Given the description of an element on the screen output the (x, y) to click on. 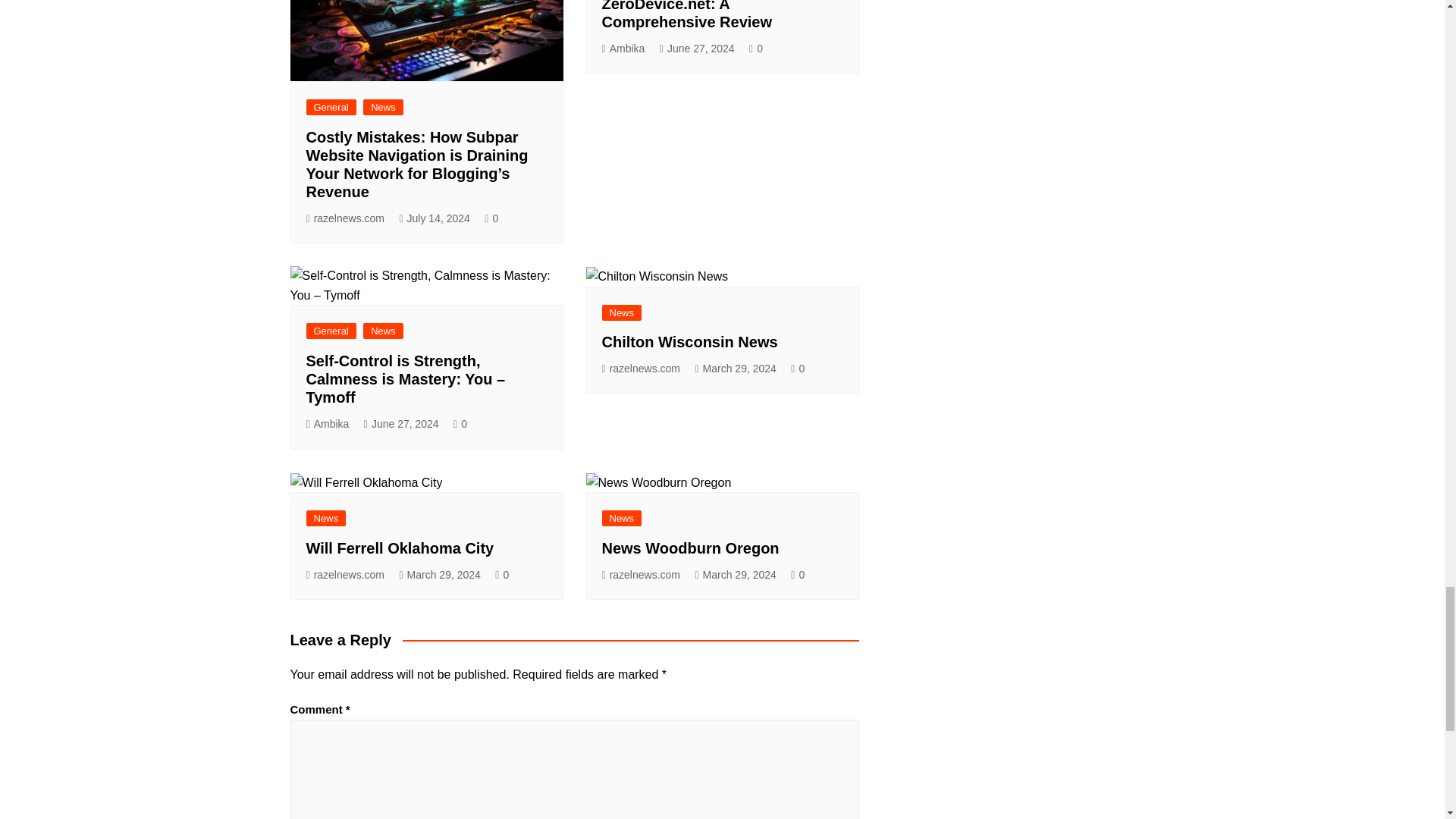
July 14, 2024 (433, 218)
0 (490, 218)
News (382, 107)
General (330, 107)
razelnews.com (345, 218)
